Given the description of an element on the screen output the (x, y) to click on. 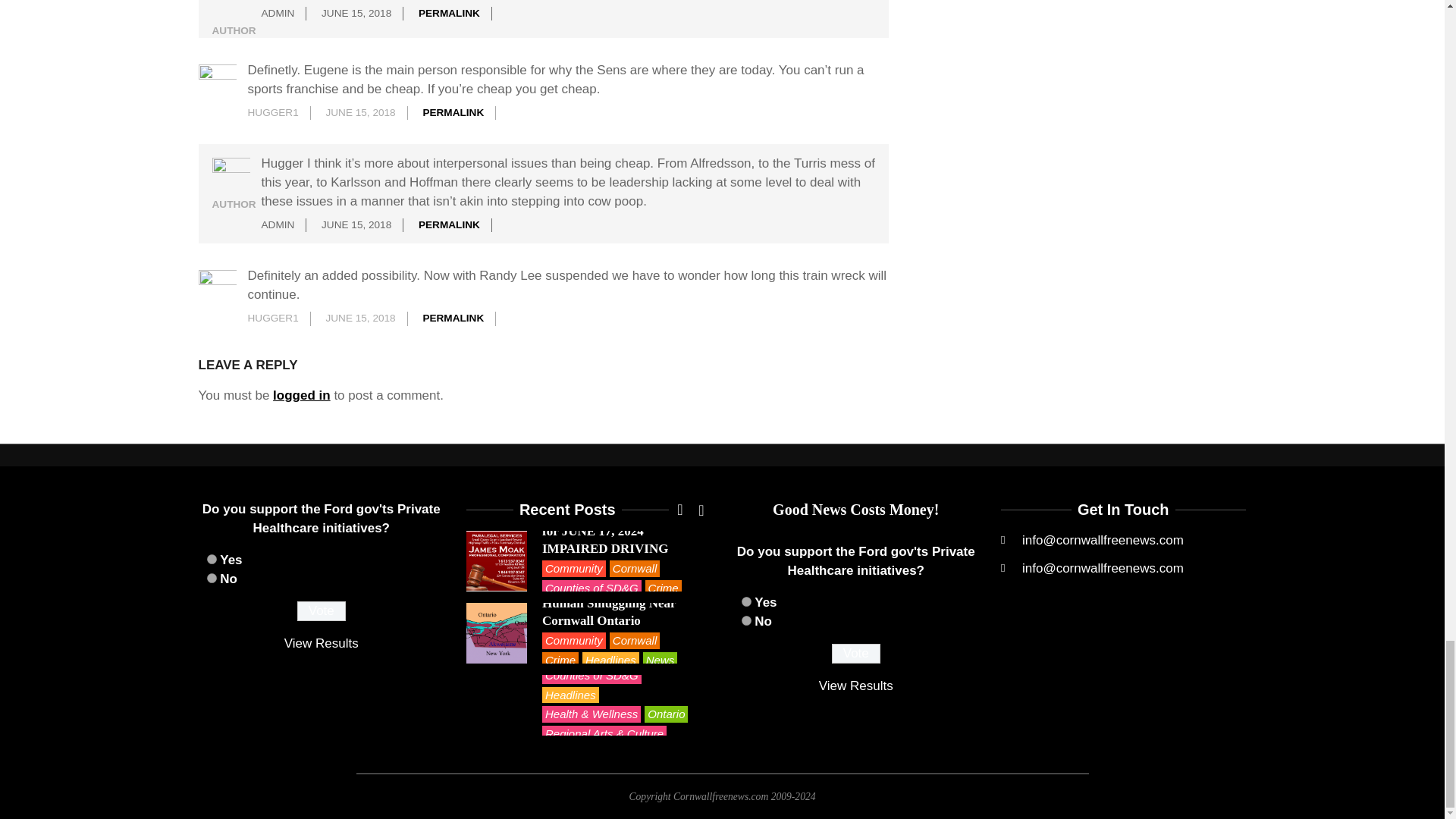
Friday, June 15, 2018, 6:08 pm (359, 317)
Friday, June 15, 2018, 9:38 am (356, 12)
   Vote    (321, 610)
1776 (210, 559)
1777 (746, 620)
1776 (746, 601)
Friday, June 15, 2018, 2:49 pm (359, 112)
Friday, June 15, 2018, 2:54 pm (356, 224)
   Vote    (855, 653)
1777 (210, 578)
